Given the description of an element on the screen output the (x, y) to click on. 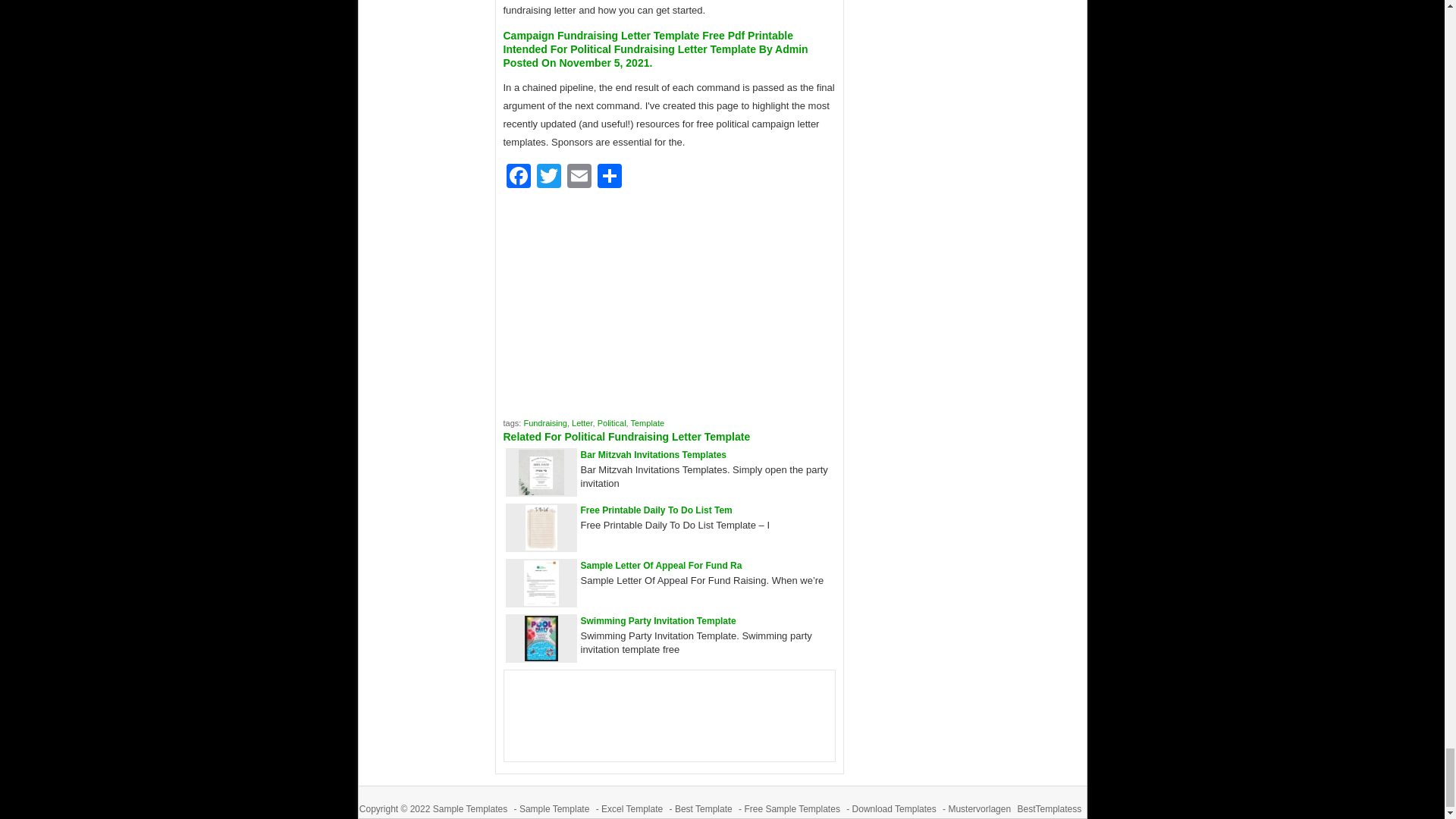
Bar Mitzvah Invitations Templates (541, 491)
Sample Letter Of Appeal For Fund Raising (539, 602)
Facebook (518, 177)
Bar Mitzvah Invitations Templates (653, 454)
Free Printable Daily To Do List Tem (656, 510)
Twitter (549, 177)
Letter (582, 422)
Free Printable Daily To Do List Template (656, 510)
Swimming Party Invitation Template (658, 620)
Email (579, 177)
Bar Mitzvah Invitations Templates (653, 454)
Fundraising (544, 422)
Facebook (518, 177)
Template (647, 422)
Free Printable Daily To Do List Template (540, 546)
